Given the description of an element on the screen output the (x, y) to click on. 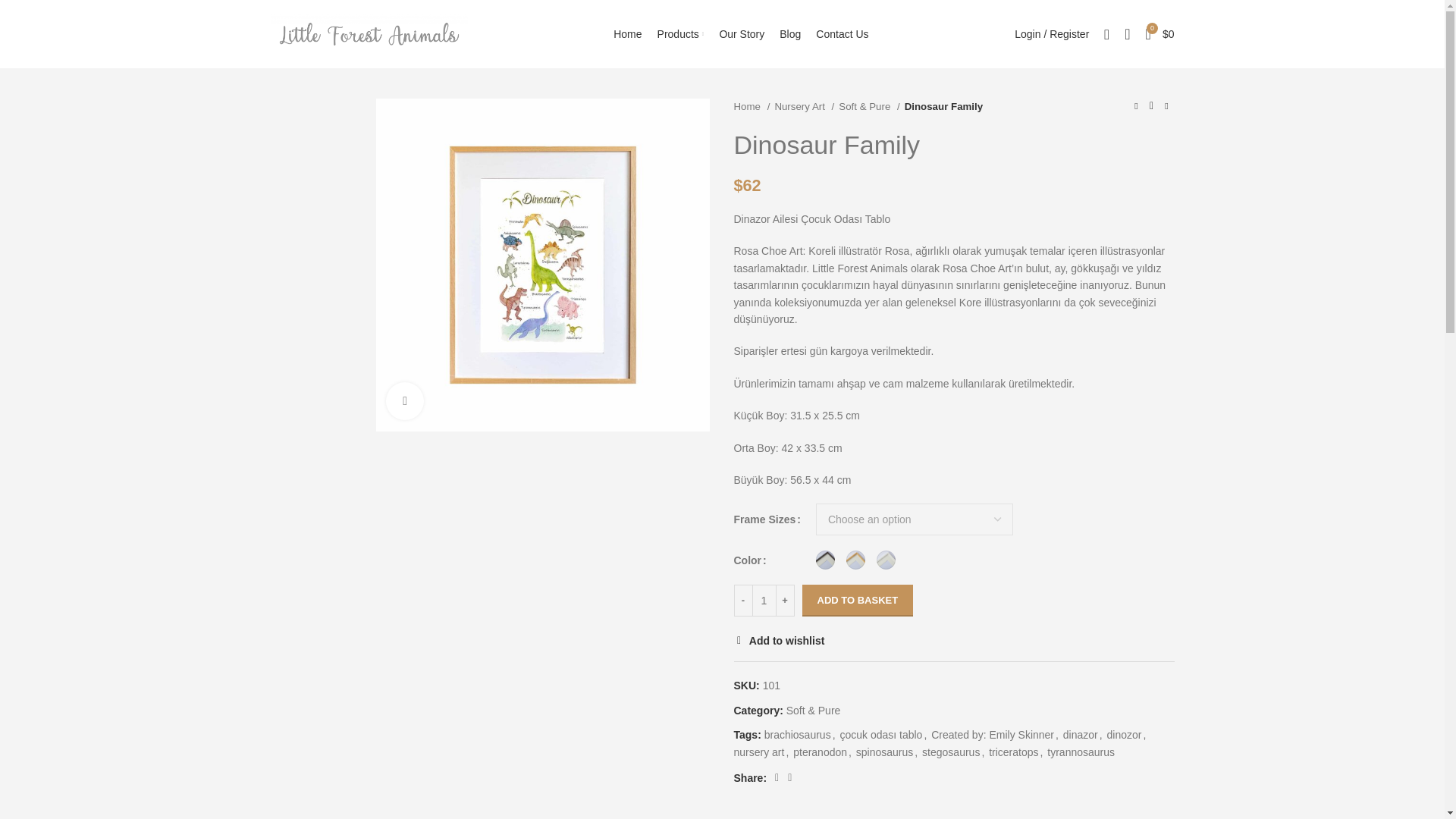
Home (627, 33)
Blog (789, 33)
Home (751, 106)
Contact Us (842, 33)
Our Story (741, 33)
Nursery Art (804, 106)
Products (680, 33)
9630F8FF-4125-48DE-AA0F-9FC380982F77 (542, 264)
Shopping cart (1160, 33)
My account (1051, 33)
